Given the description of an element on the screen output the (x, y) to click on. 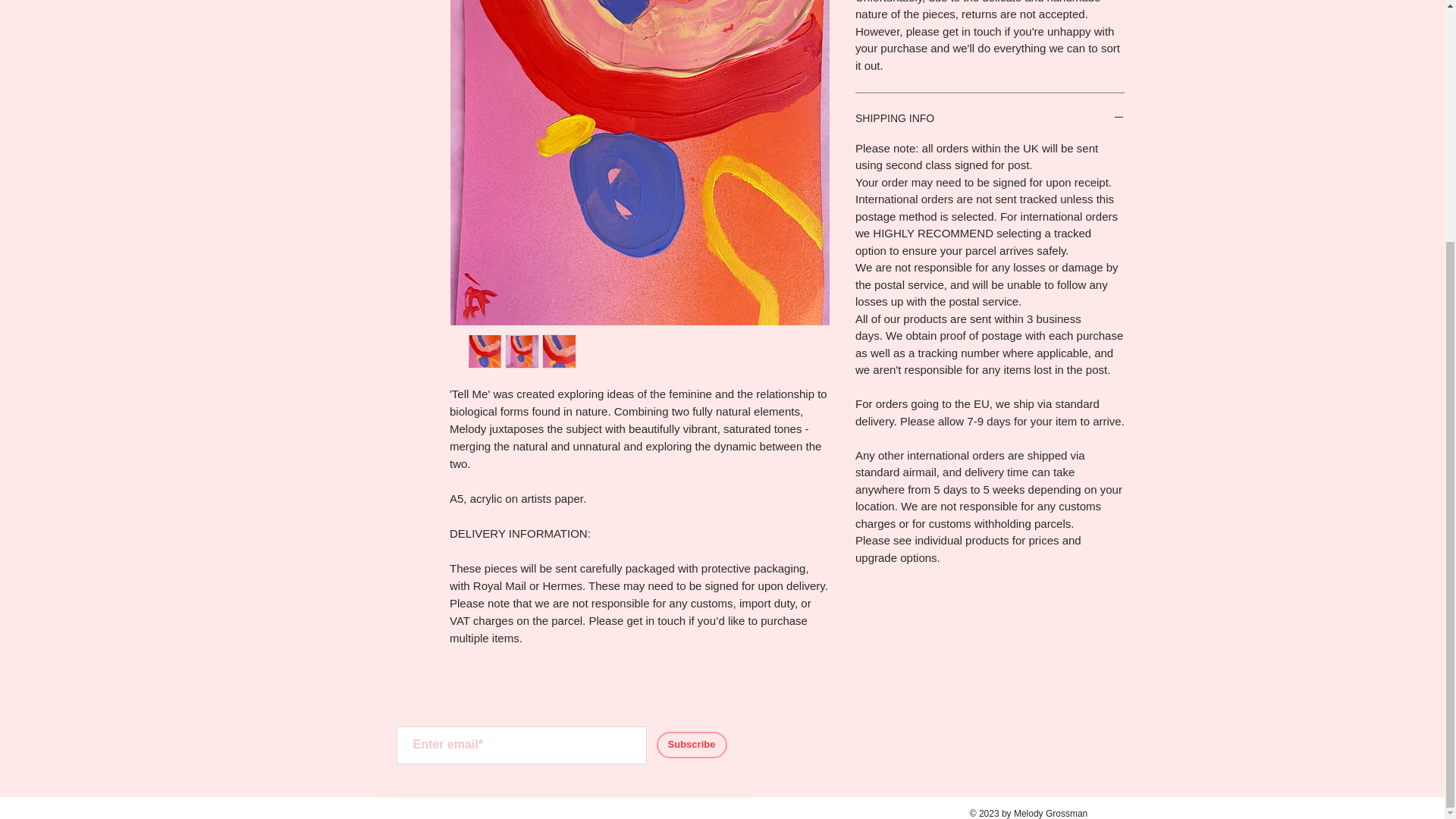
Subscribe (691, 745)
SHIPPING INFO (990, 119)
